Given the description of an element on the screen output the (x, y) to click on. 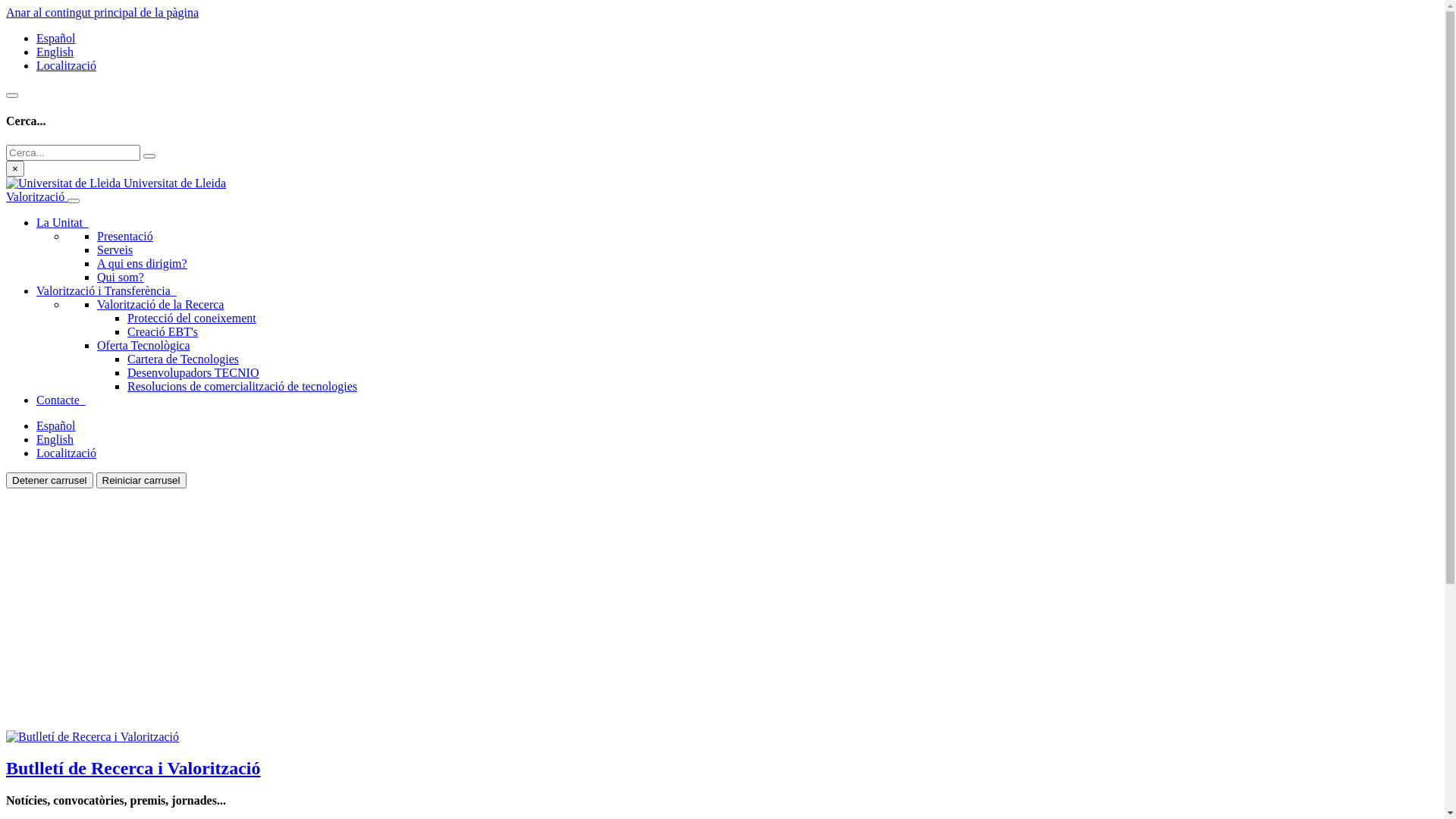
La Unitat   Element type: text (62, 222)
English Element type: text (54, 439)
Search Element type: hover (149, 155)
Detener carrusel Element type: text (49, 480)
Desenvolupadors TECNIO Element type: text (192, 372)
Search Element type: hover (12, 95)
Contacte   Element type: text (60, 399)
Cartera de Tecnologies Element type: text (182, 358)
submit Element type: text (149, 155)
Cerca... Element type: hover (73, 152)
English Element type: text (54, 51)
A qui ens dirigim? Element type: text (142, 263)
Qui som? Element type: text (120, 276)
Serveis Element type: text (114, 249)
YouTube video player Element type: hover (218, 607)
Reiniciar carrusel Element type: text (141, 480)
